Given the description of an element on the screen output the (x, y) to click on. 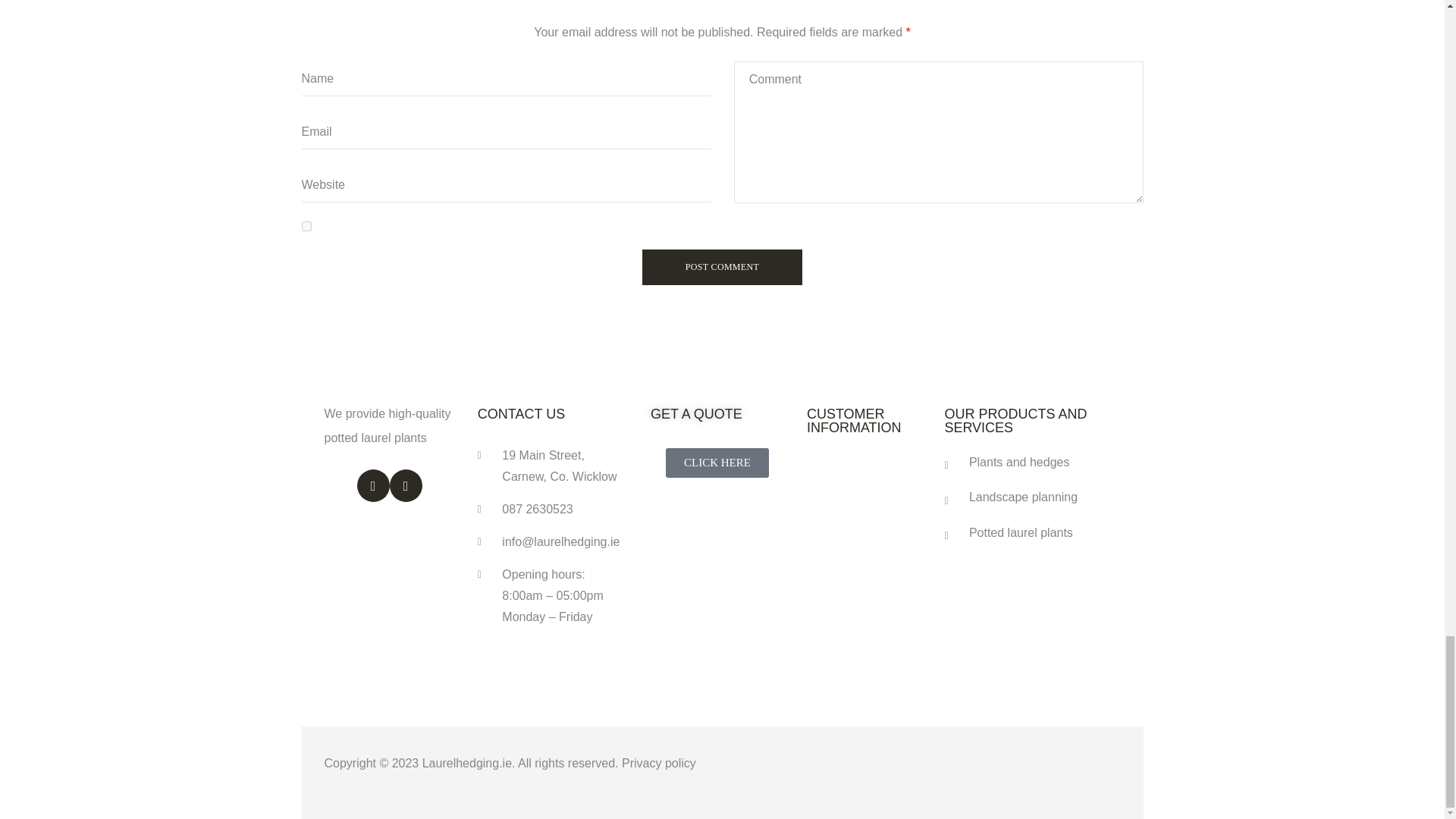
Landscape planning (1031, 498)
Potted laurel plants (1031, 532)
CLICK HERE (716, 462)
087 2630523 (552, 509)
Post Comment (722, 267)
Post Comment (722, 267)
Laurelhedging.ie (467, 762)
Plants and hedges (1031, 462)
19 Main Street, Carnew, Co. Wicklow (552, 466)
1 (306, 225)
Privacy policy (658, 762)
